Given the description of an element on the screen output the (x, y) to click on. 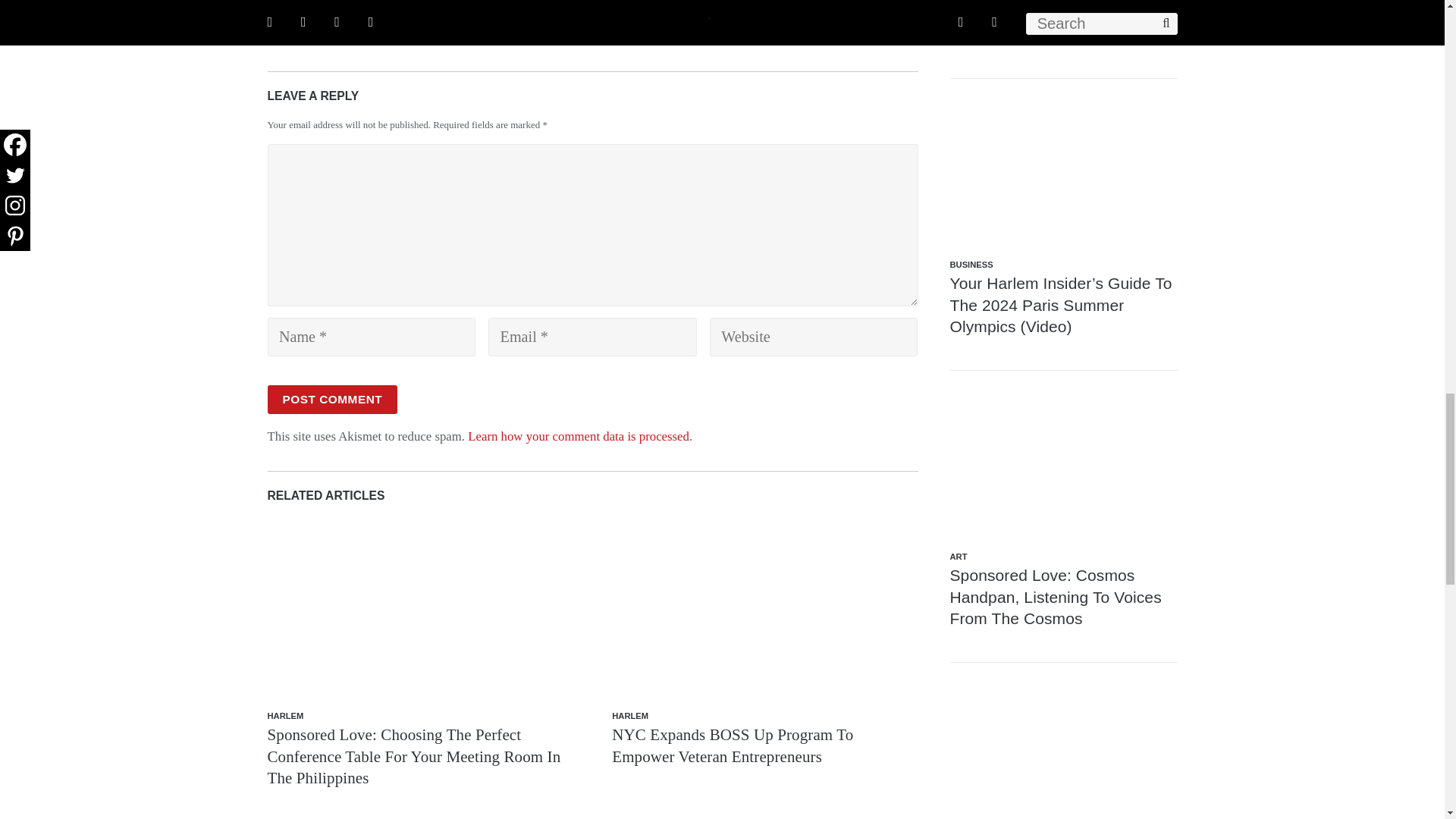
Post Comment (331, 399)
